Given the description of an element on the screen output the (x, y) to click on. 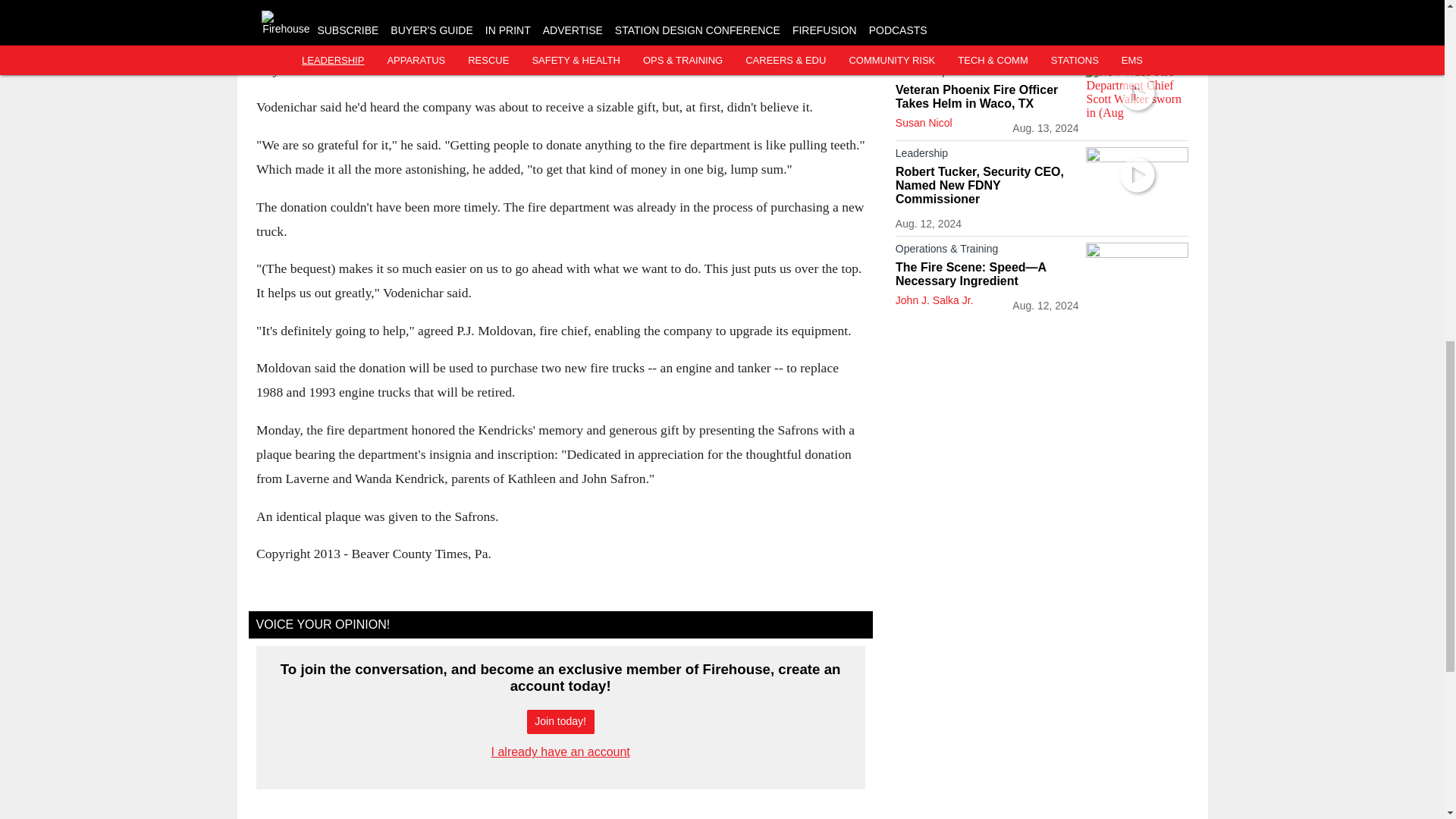
Charlie Butterfield (937, 39)
Leadership (986, 6)
I already have an account (561, 751)
First Due: Lead Like a Genius (986, 20)
Join today! (560, 722)
